Given the description of an element on the screen output the (x, y) to click on. 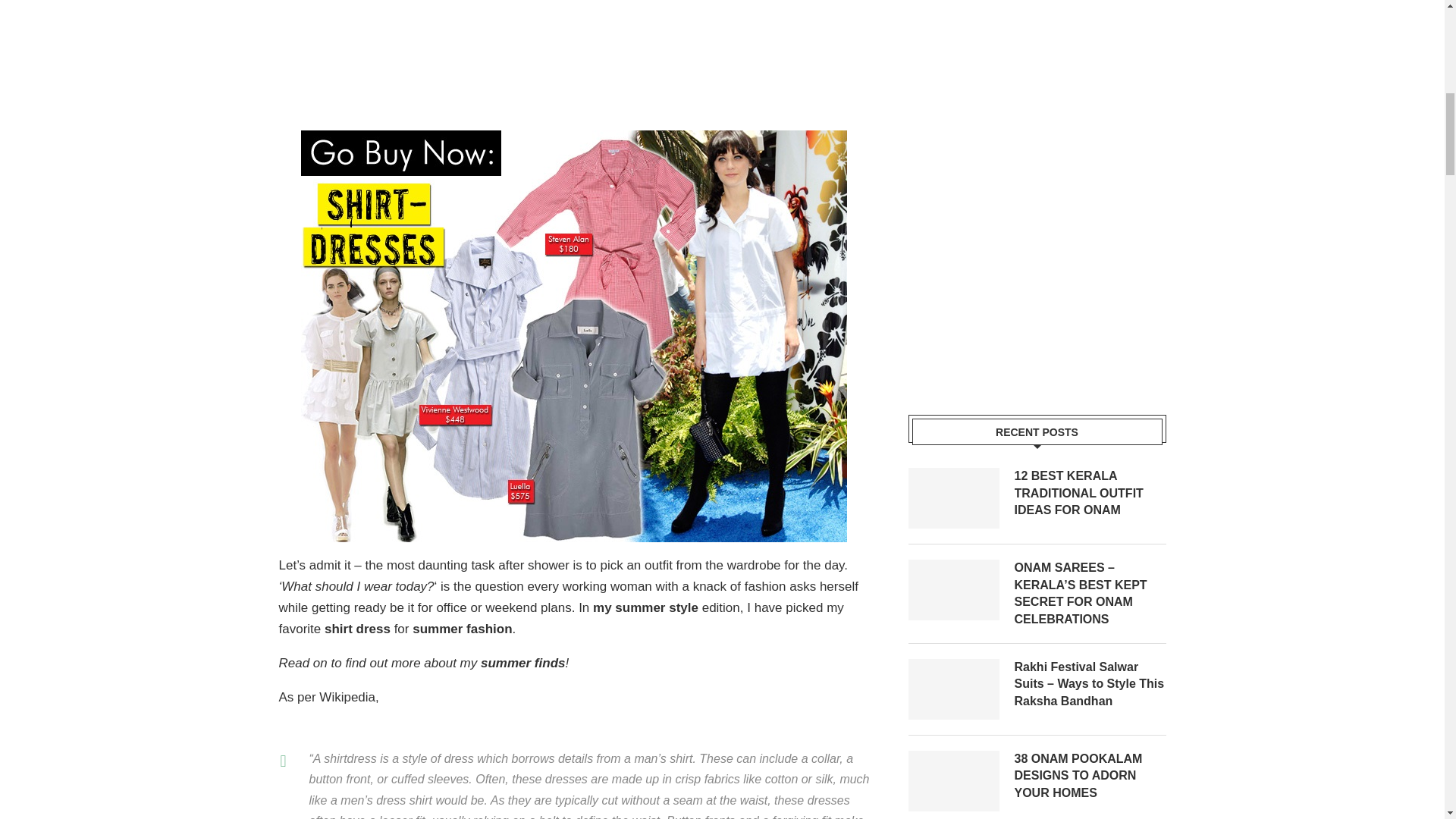
Advertisement (555, 58)
